Given the description of an element on the screen output the (x, y) to click on. 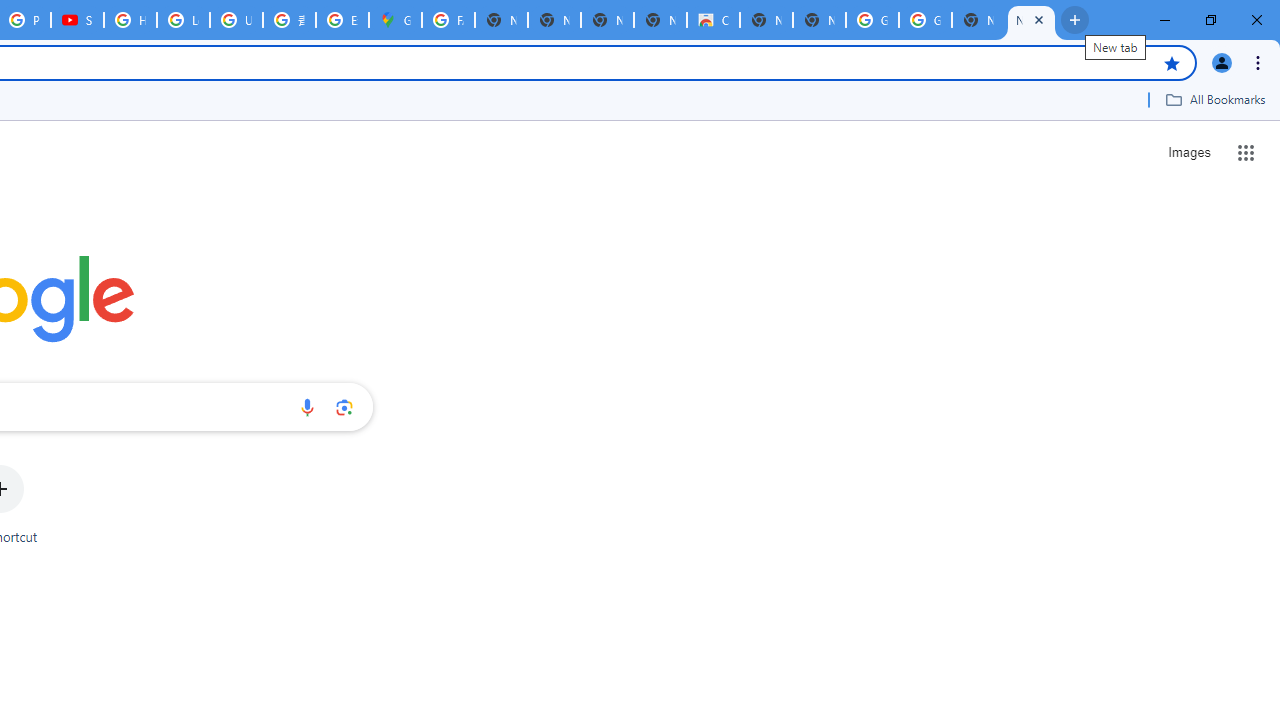
Google Images (925, 20)
How Chrome protects your passwords - Google Chrome Help (130, 20)
Google Maps (395, 20)
